Given the description of an element on the screen output the (x, y) to click on. 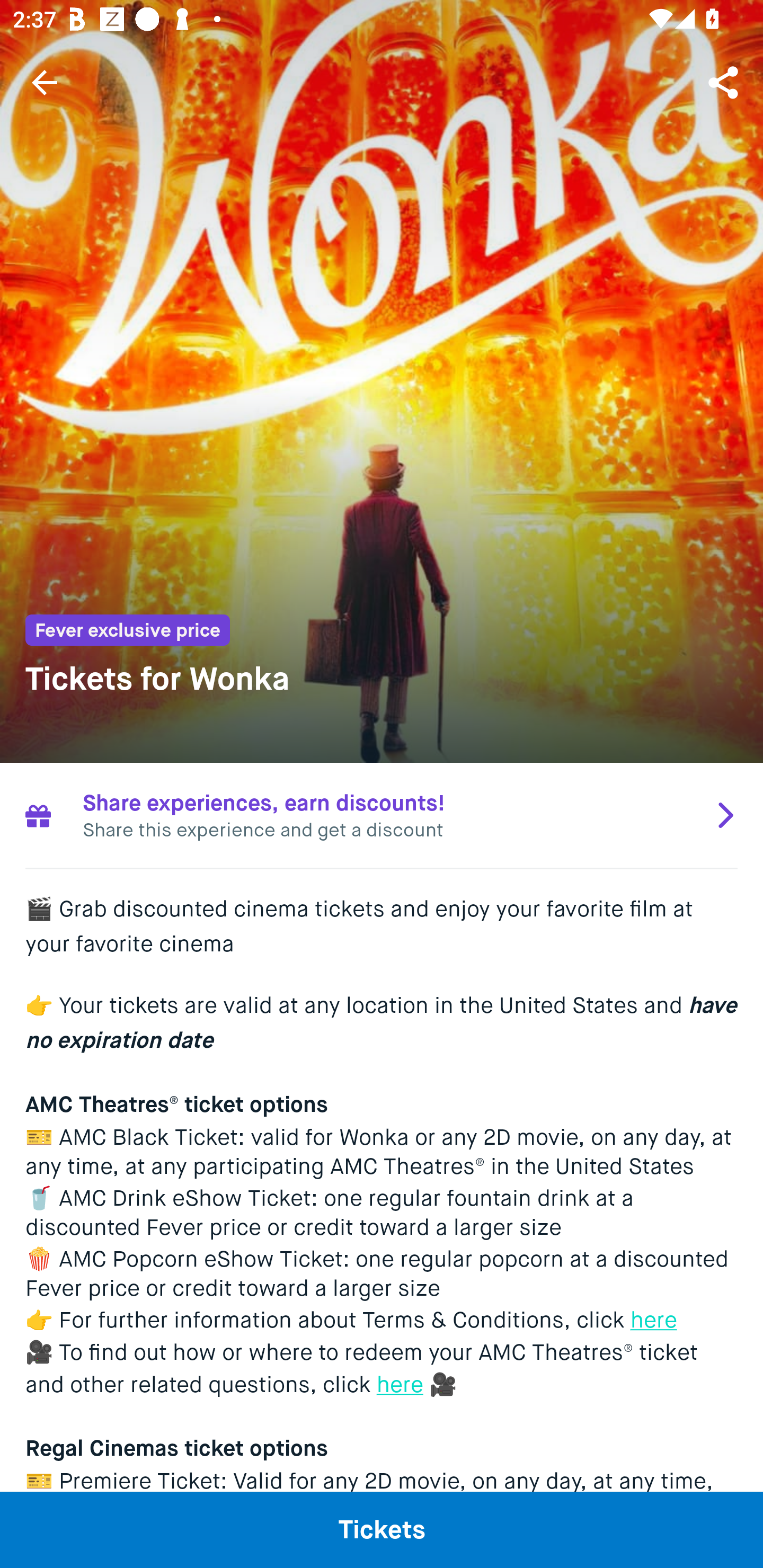
Navigate up (44, 82)
Share (724, 81)
Tickets (381, 1529)
